Given the description of an element on the screen output the (x, y) to click on. 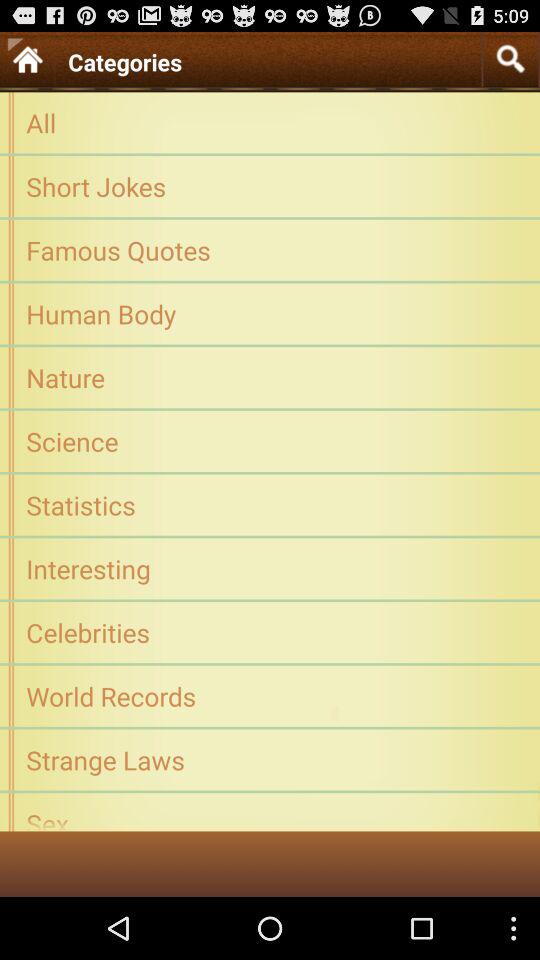
choose interesting (270, 568)
